Given the description of an element on the screen output the (x, y) to click on. 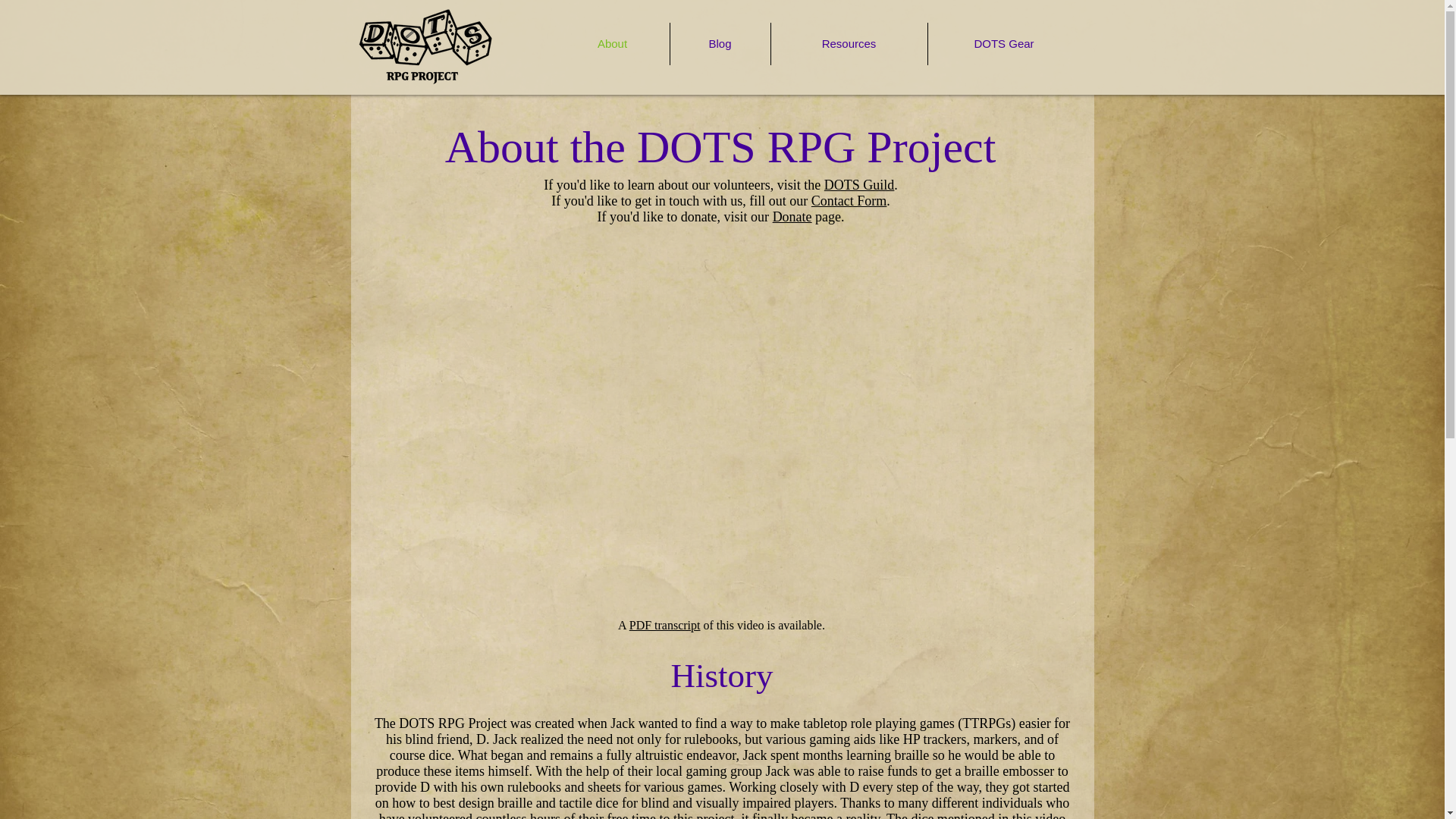
Blog (719, 43)
Contact Form (848, 200)
DOTS Guild (859, 184)
PDF transcript (664, 625)
Resources (848, 43)
DOTS Gear (1004, 43)
About (611, 43)
Donate (792, 216)
